Given the description of an element on the screen output the (x, y) to click on. 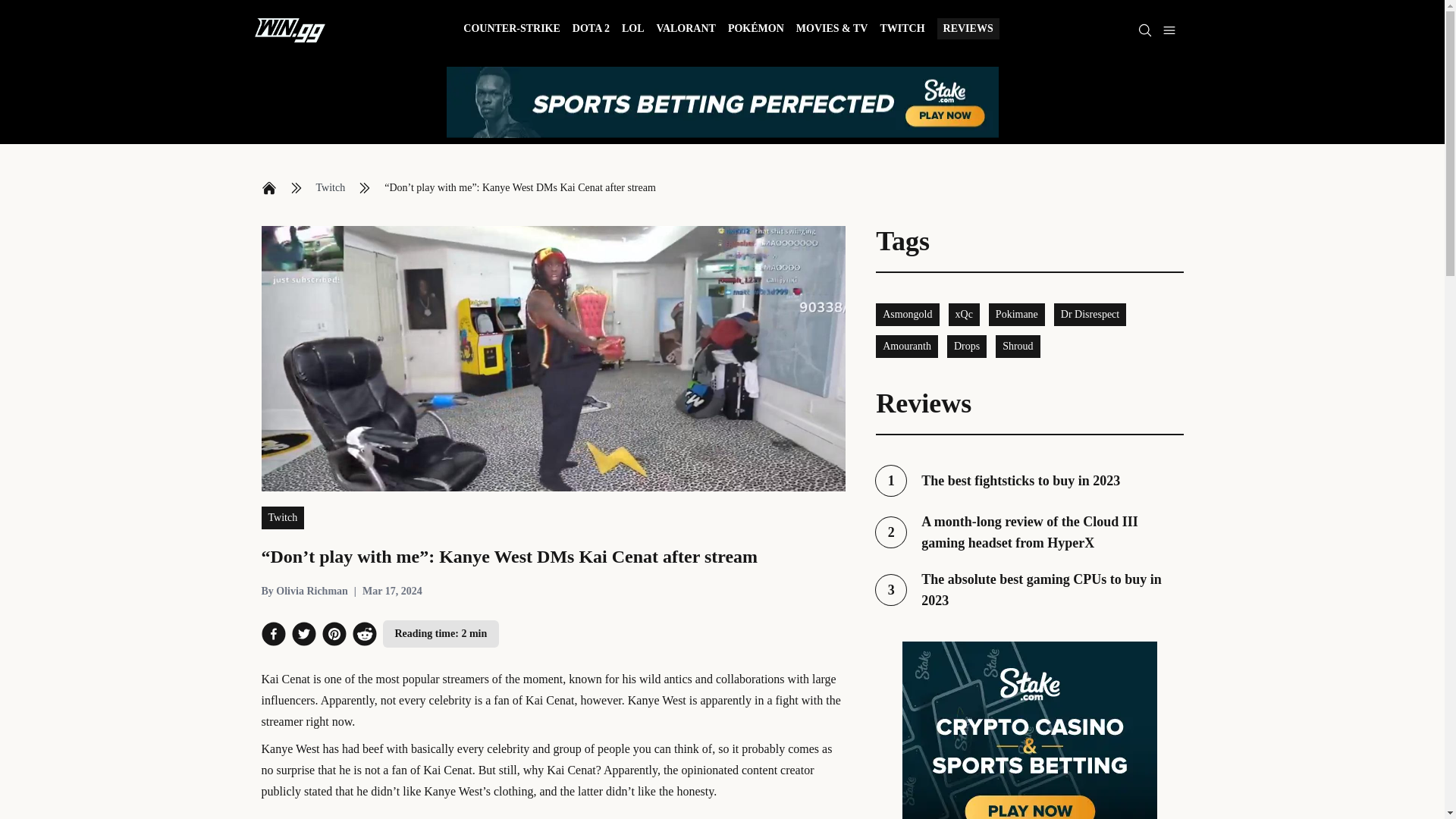
Pokimane (1016, 314)
By Olivia Richman (303, 590)
Drops (1029, 589)
Dr Disrespect (967, 345)
TWITCH (1089, 314)
COUNTER-STRIKE (901, 30)
kai cenat kanye west (511, 30)
xQc (1029, 481)
Twitch (633, 30)
Asmongold (964, 314)
DOTA 2 (330, 187)
Shroud (907, 314)
